Given the description of an element on the screen output the (x, y) to click on. 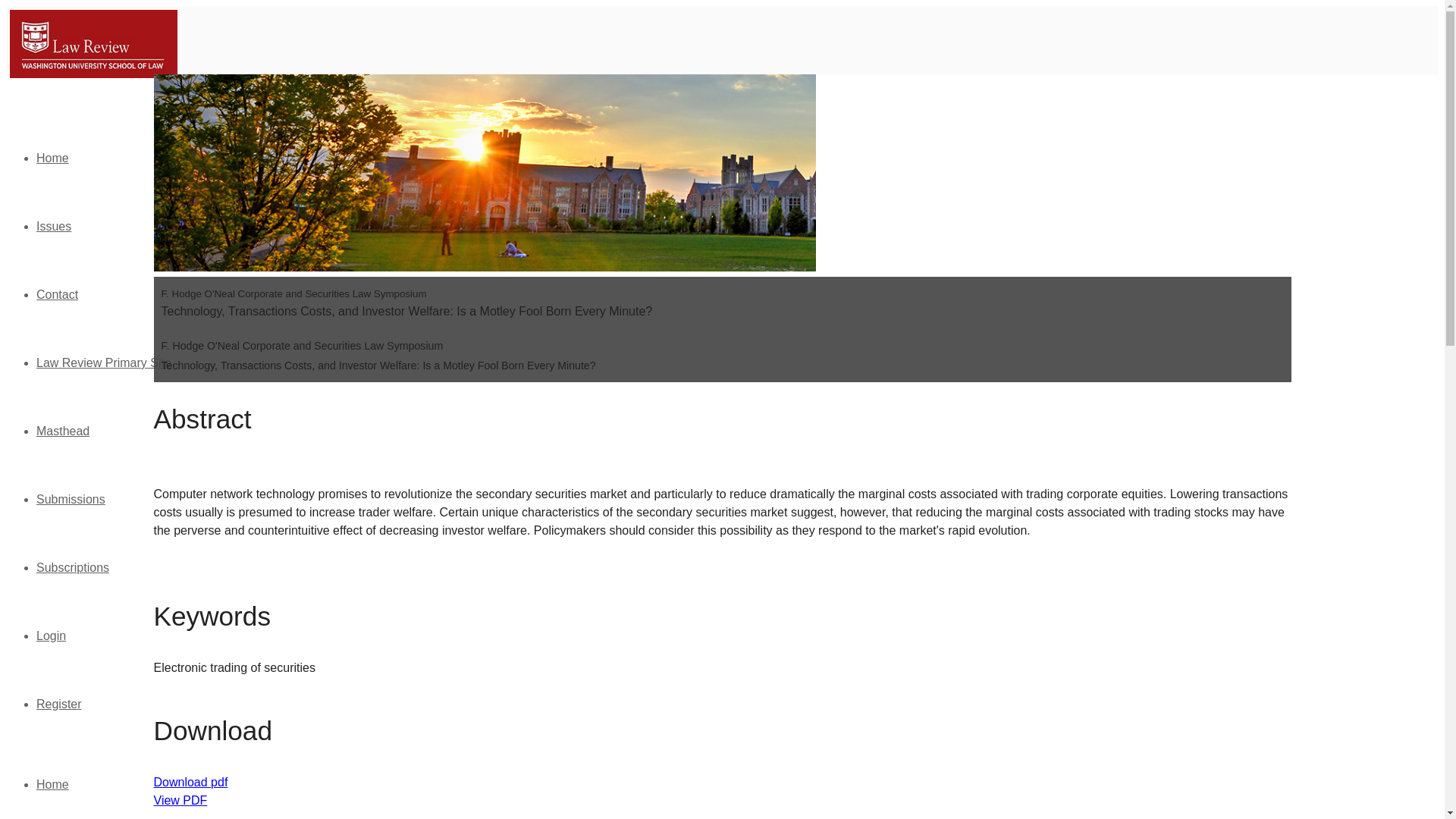
Download pdf (189, 781)
Law Review Primary Site (103, 362)
Contact (57, 294)
Login (50, 635)
View PDF (179, 799)
Home (52, 157)
Issues (53, 226)
Submissions (70, 499)
Masthead (62, 431)
Register (58, 703)
